Given the description of an element on the screen output the (x, y) to click on. 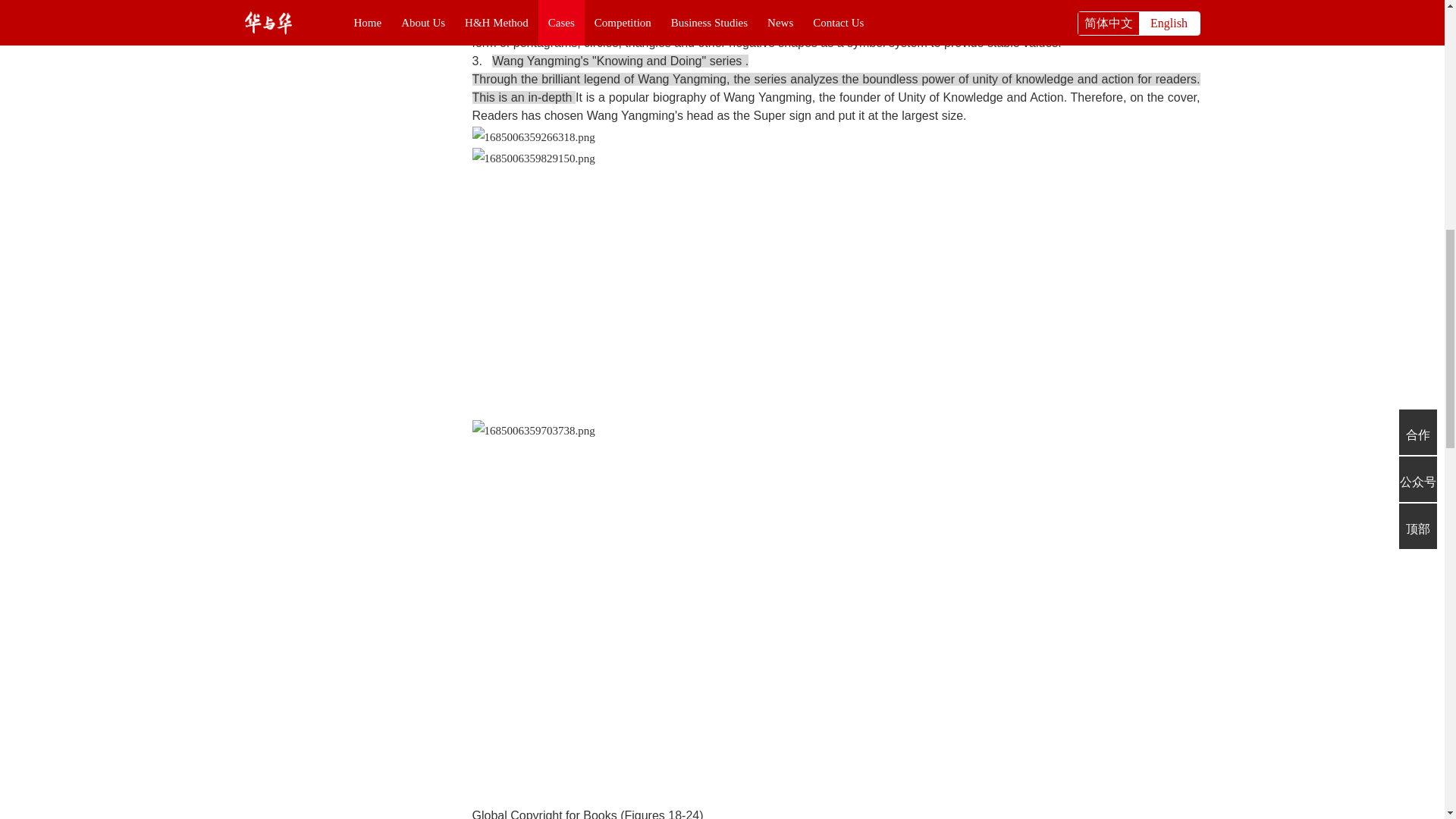
1685006359266318.png (532, 137)
